Given the description of an element on the screen output the (x, y) to click on. 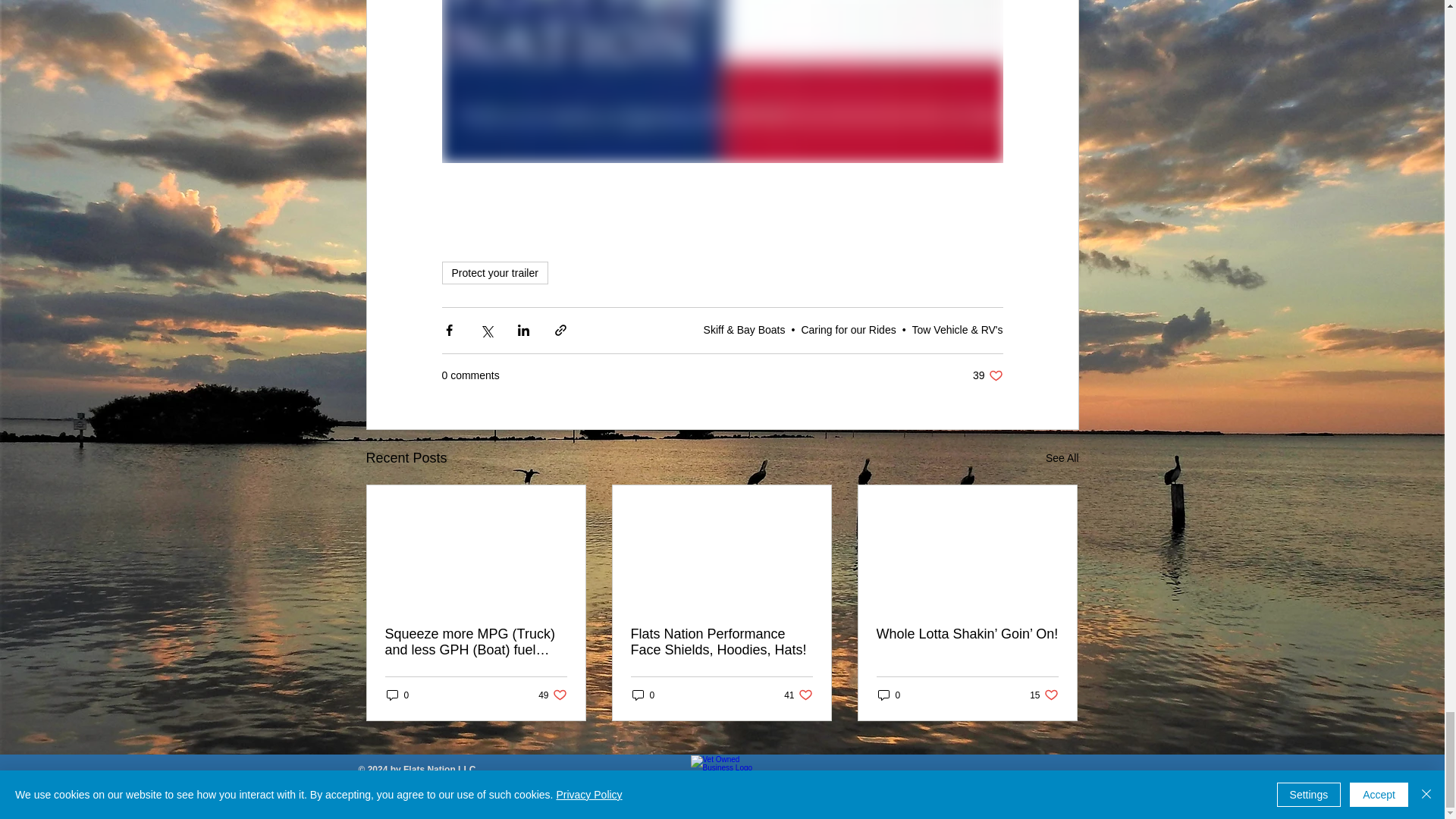
Caring for our Rides (847, 329)
See All (1061, 458)
Protect your trailer (494, 272)
